Given the description of an element on the screen output the (x, y) to click on. 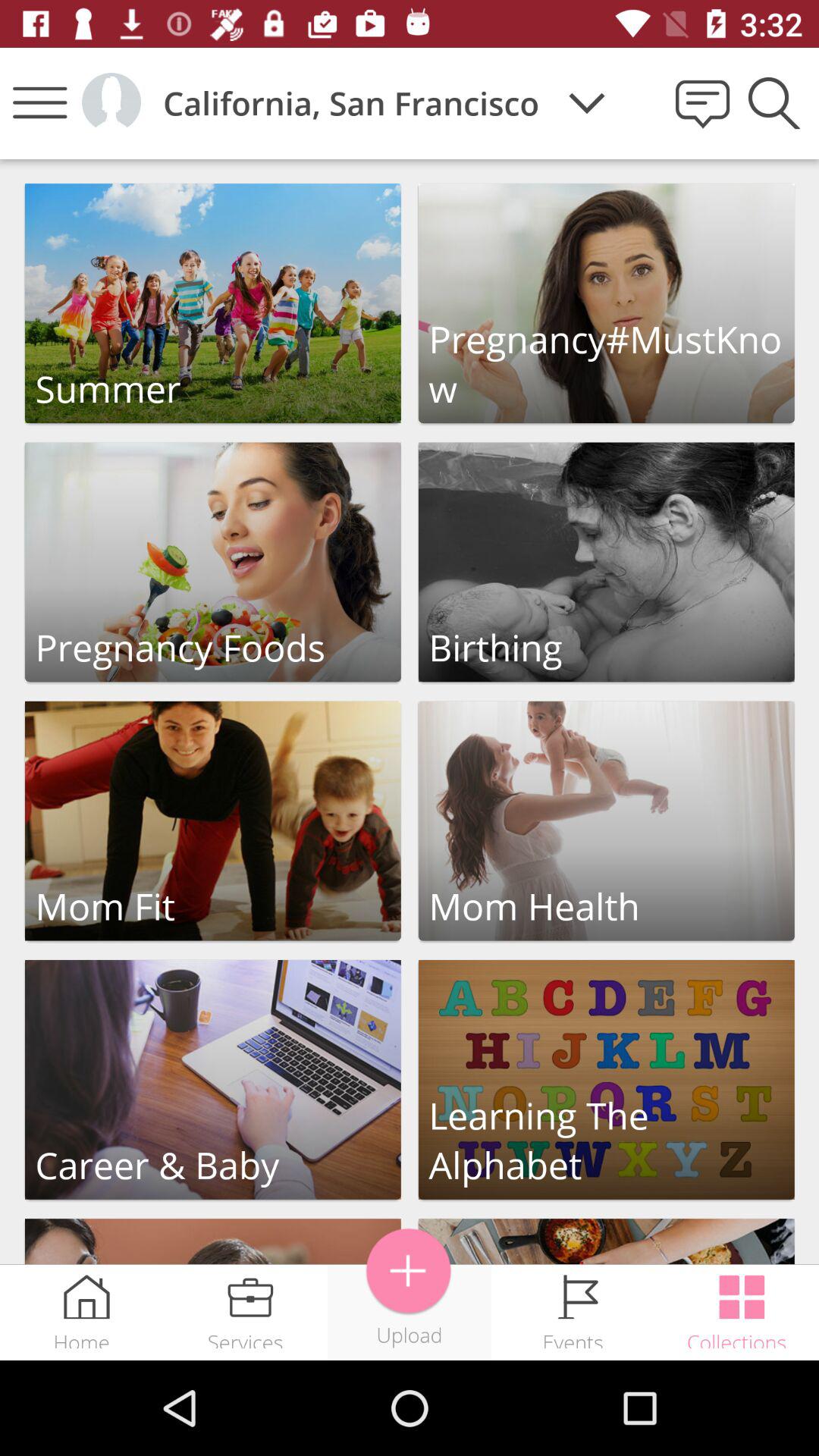
turn on item above upload (408, 1271)
